Given the description of an element on the screen output the (x, y) to click on. 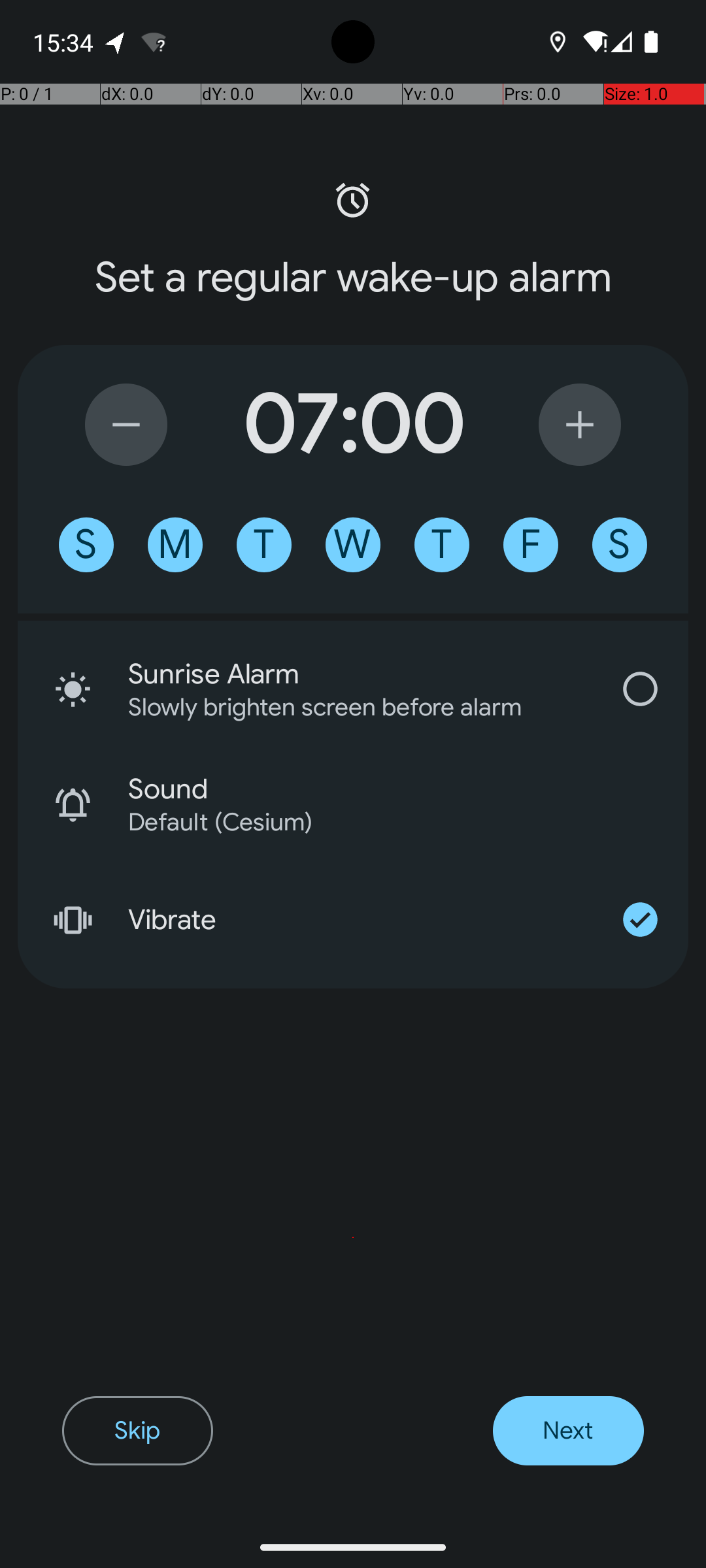
Set a regular wake-up alarm Element type: android.widget.TextView (352, 277)
Fifteen minutes earlier Element type: android.widget.ImageView (125, 424)
Fifteen minutes later Element type: android.widget.ImageView (579, 424)
Sunrise Alarm Element type: android.widget.TextView (360, 673)
Slowly brighten screen before alarm Element type: android.widget.TextView (342, 706)
